Given the description of an element on the screen output the (x, y) to click on. 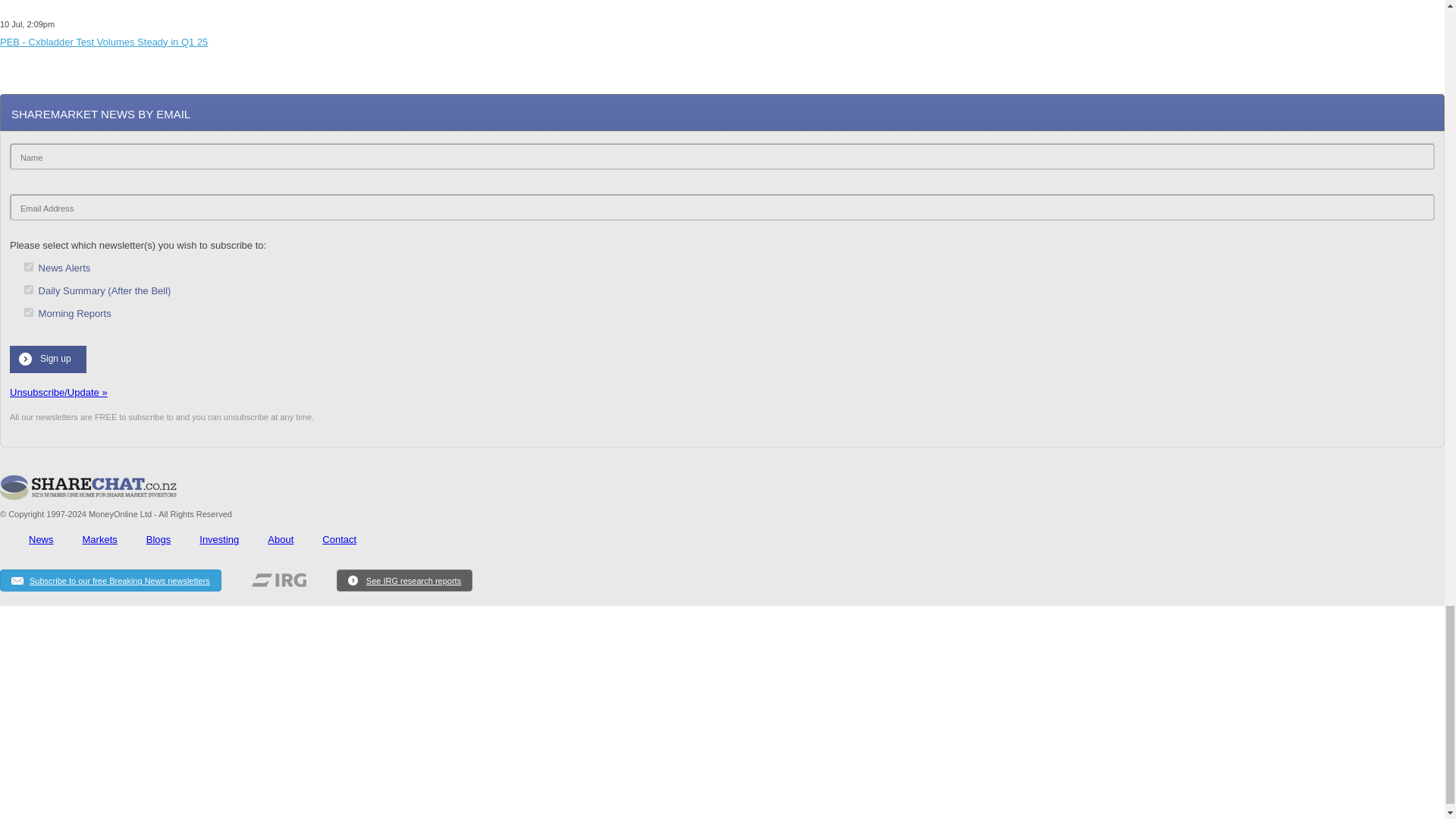
2 (28, 266)
5 (28, 311)
41 (28, 289)
